Given the description of an element on the screen output the (x, y) to click on. 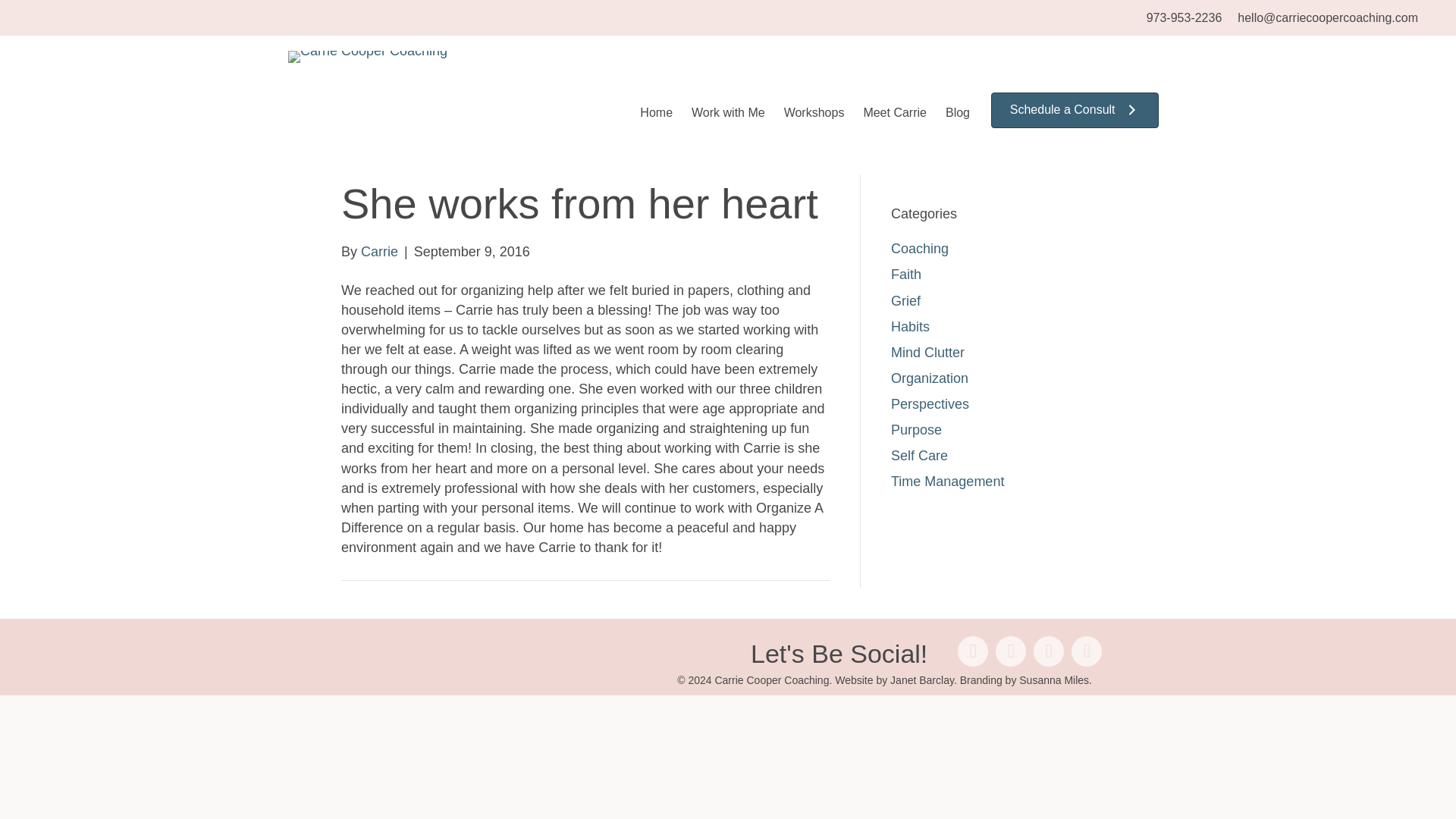
Organization (929, 378)
Grief (905, 300)
Carrie (379, 251)
Mind Clutter (927, 352)
Home (656, 112)
Schedule a Consult (1074, 109)
Meet Carrie (894, 112)
Faith (906, 273)
Coaching (920, 248)
Work with Me (727, 112)
